Given the description of an element on the screen output the (x, y) to click on. 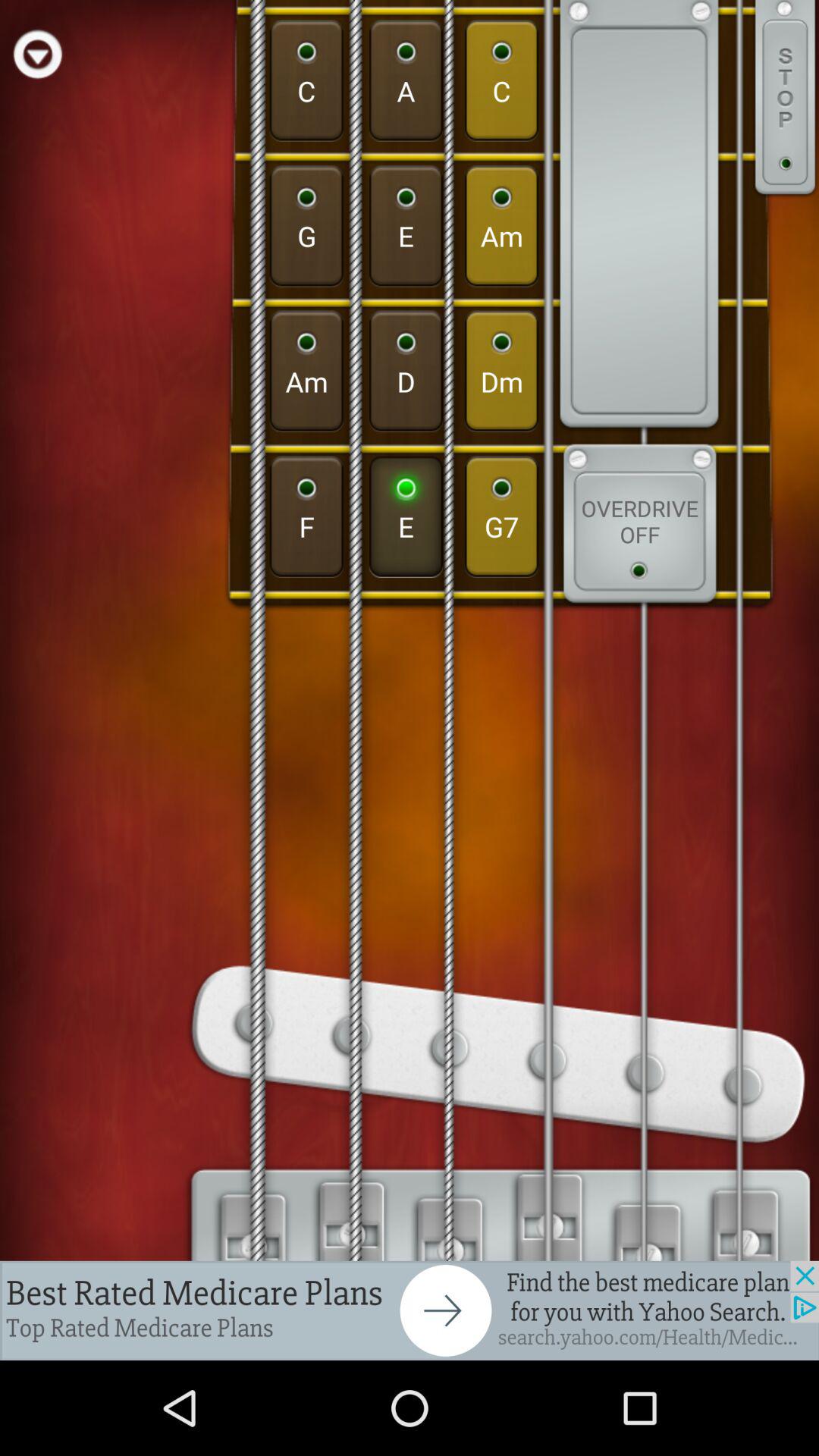
advertisement link to the website (409, 1310)
